Given the description of an element on the screen output the (x, y) to click on. 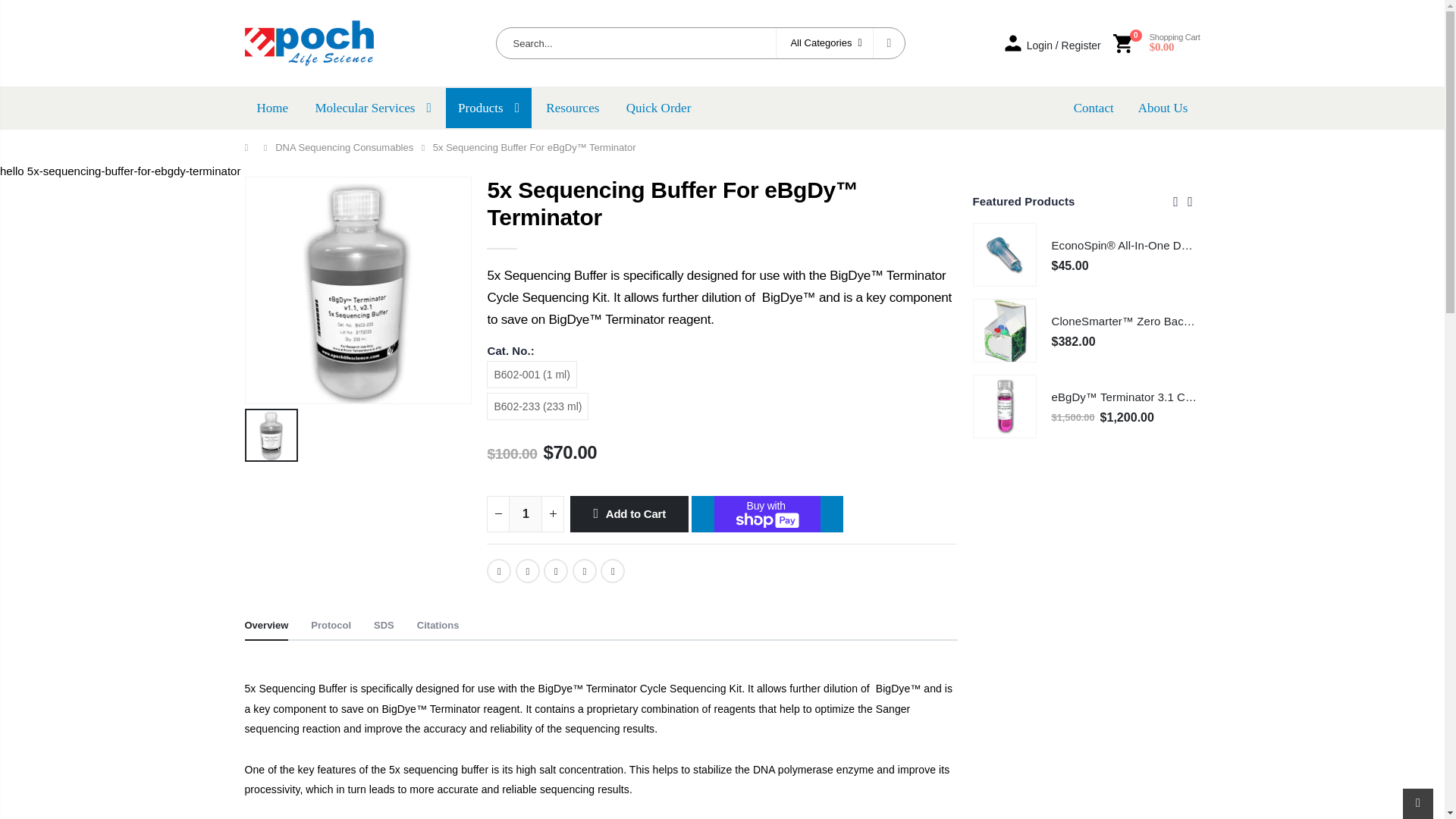
1 (524, 514)
RNase A, DNase Free (898, 396)
Molecular Services (372, 107)
All Categories (824, 42)
All Categories (824, 42)
Products (488, 107)
Search (888, 42)
Home (271, 107)
